Given the description of an element on the screen output the (x, y) to click on. 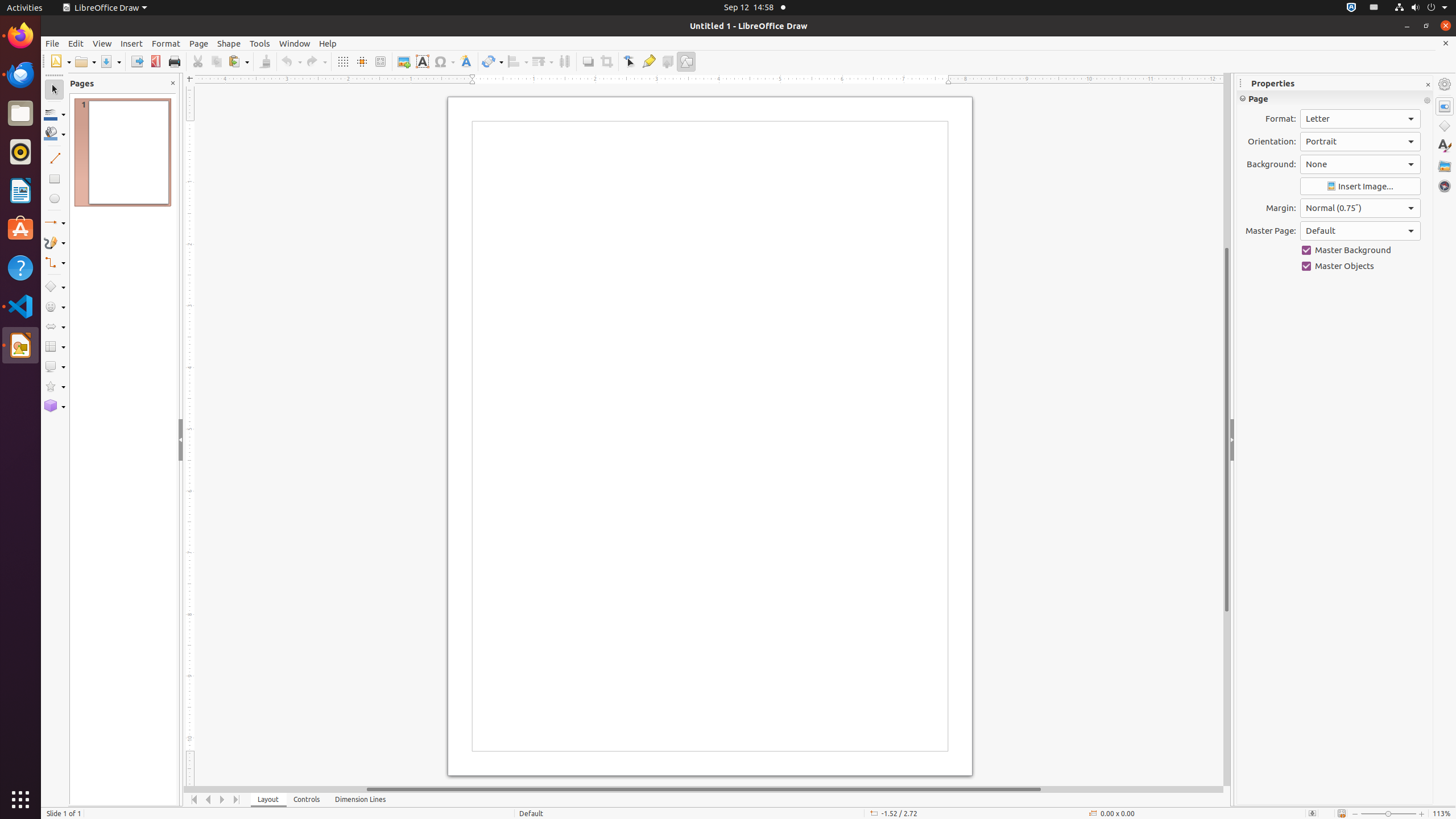
Basic Shapes Element type: push-button (54, 286)
Insert Image Element type: push-button (1360, 186)
Tools Element type: menu (259, 43)
:1.72/StatusNotifierItem Element type: menu (1350, 7)
